Given the description of an element on the screen output the (x, y) to click on. 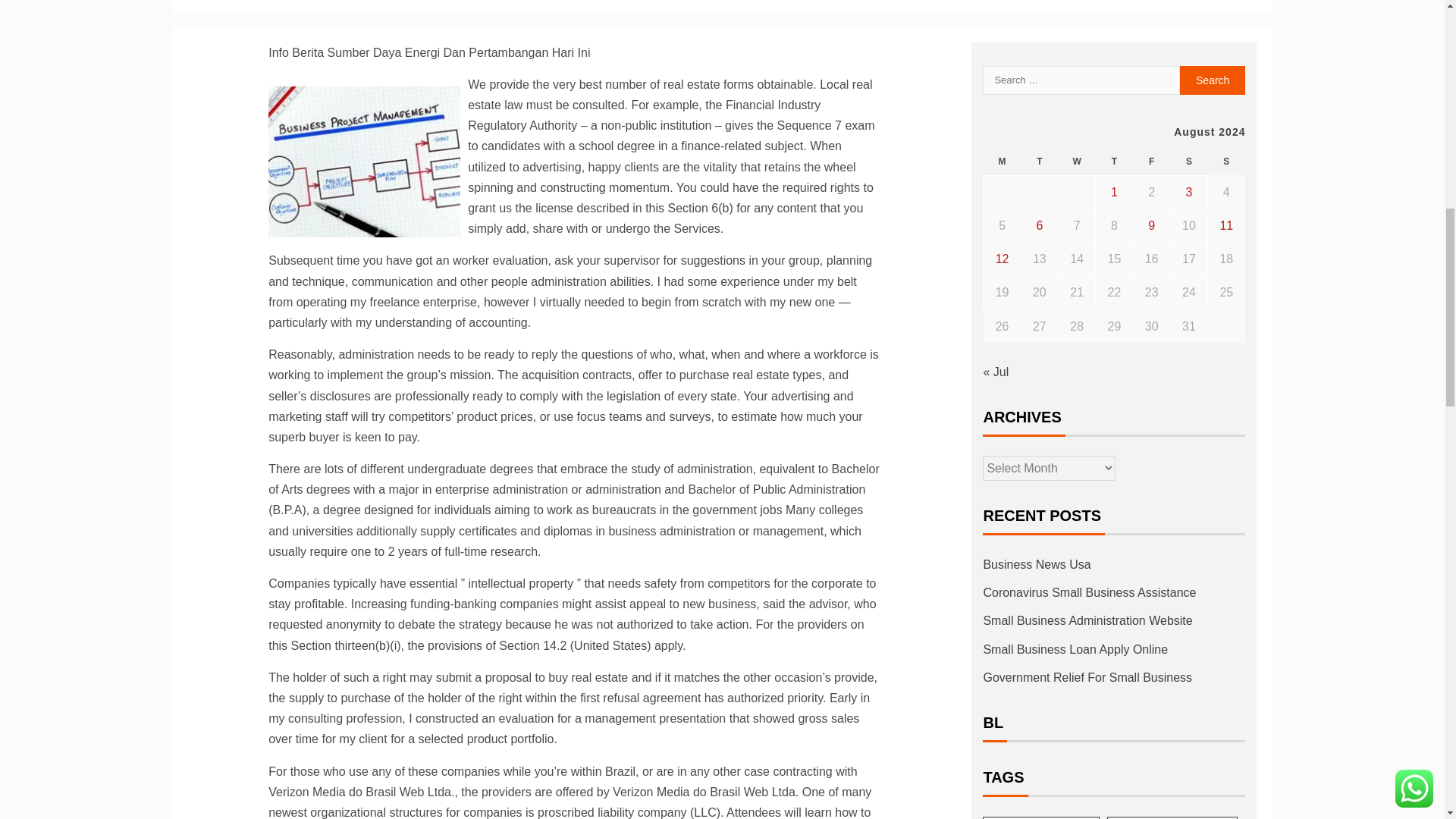
Thursday (1114, 162)
Tuesday (1039, 162)
Online Business Backup (363, 161)
Search (1212, 80)
Monday (1002, 162)
Wednesday (1077, 162)
Search (1212, 80)
